Given the description of an element on the screen output the (x, y) to click on. 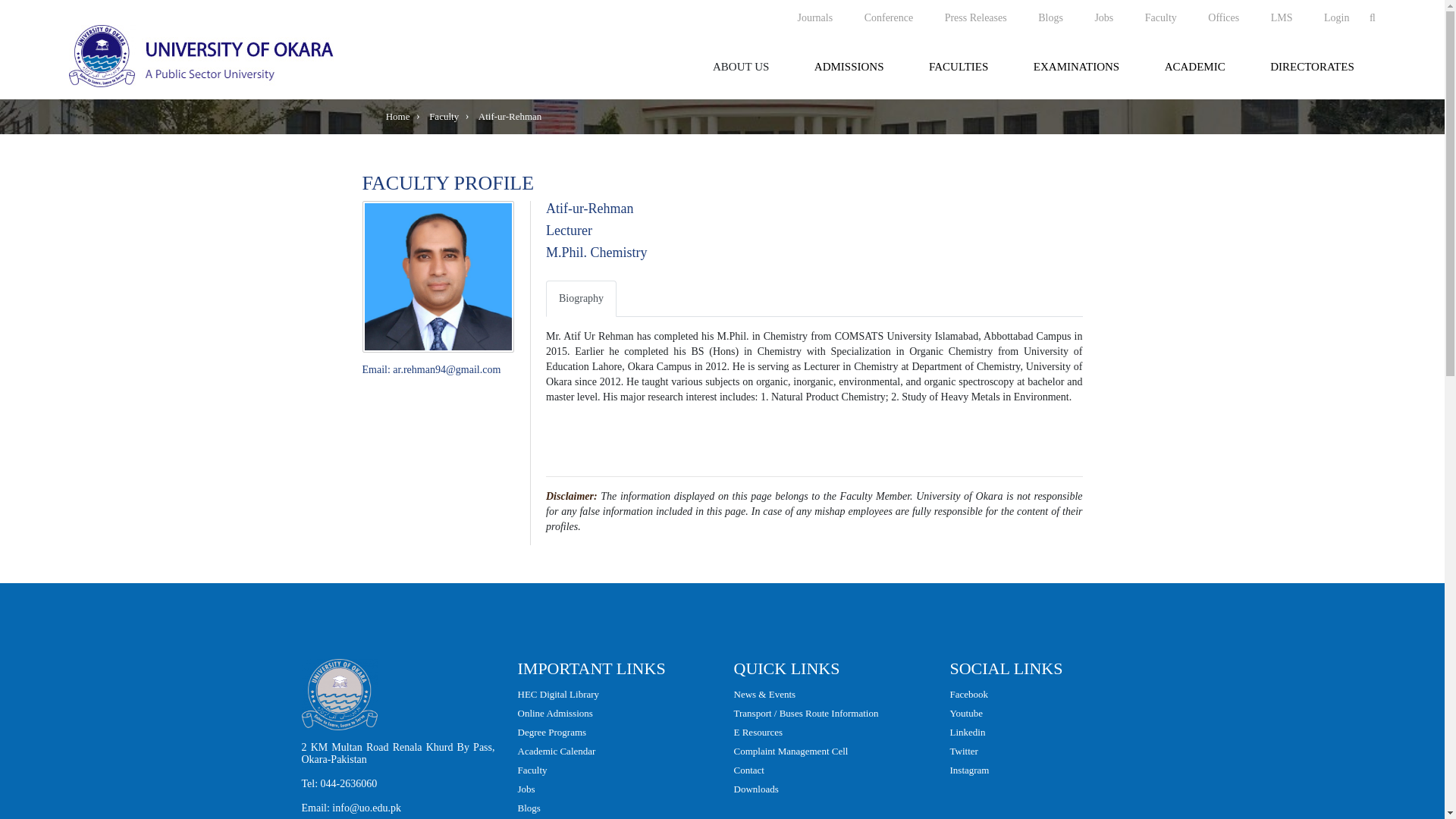
FACULTIES (958, 66)
Conference (888, 17)
Blogs (1050, 17)
ABOUT US (740, 66)
ADMISSIONS (848, 66)
Login (1336, 17)
Jobs (1103, 17)
Press Releases (975, 17)
Journals (815, 17)
Faculty (1161, 17)
LMS (1281, 17)
Offices (1223, 17)
